Given the description of an element on the screen output the (x, y) to click on. 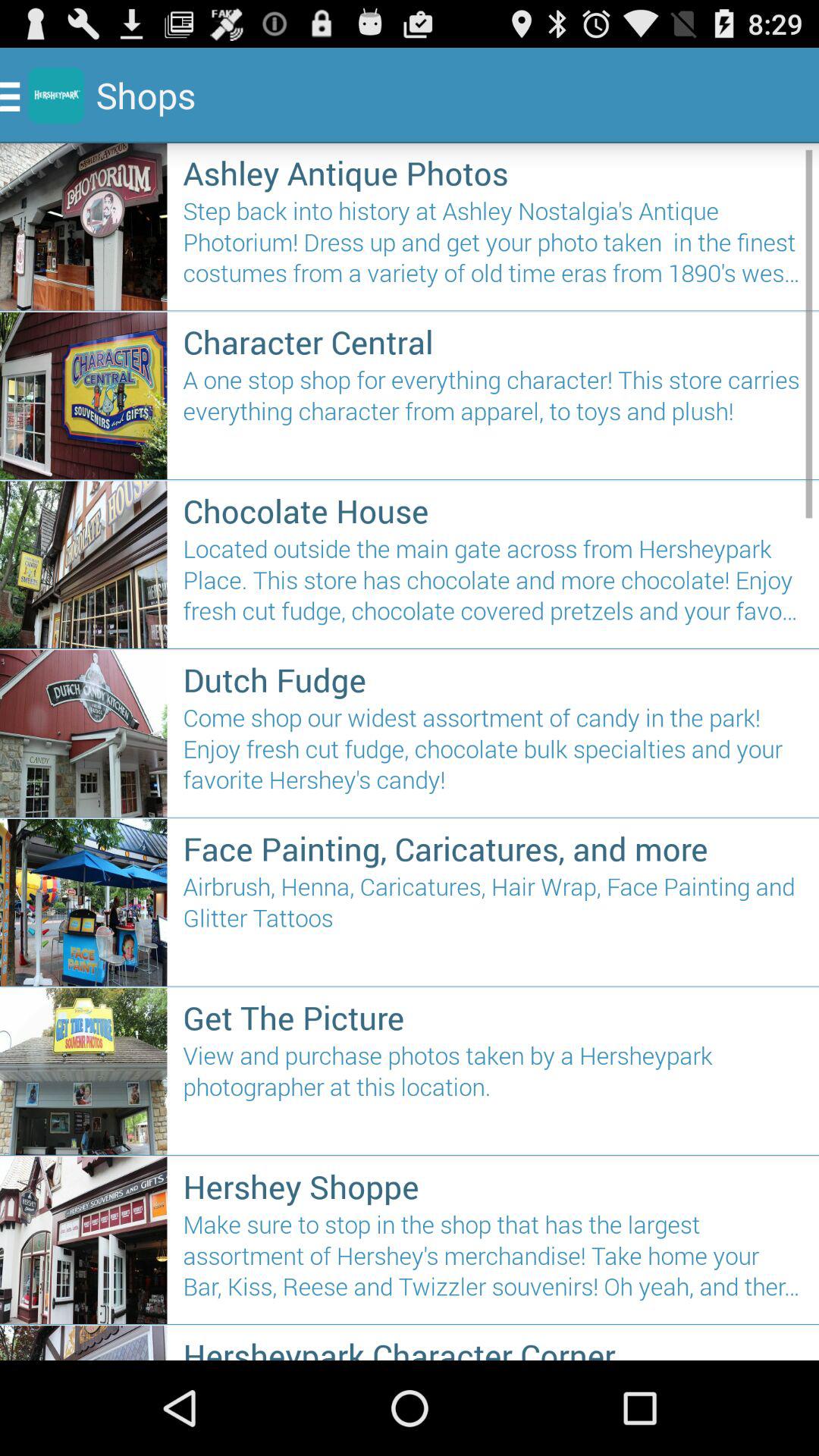
scroll until chocolate house icon (493, 510)
